Given the description of an element on the screen output the (x, y) to click on. 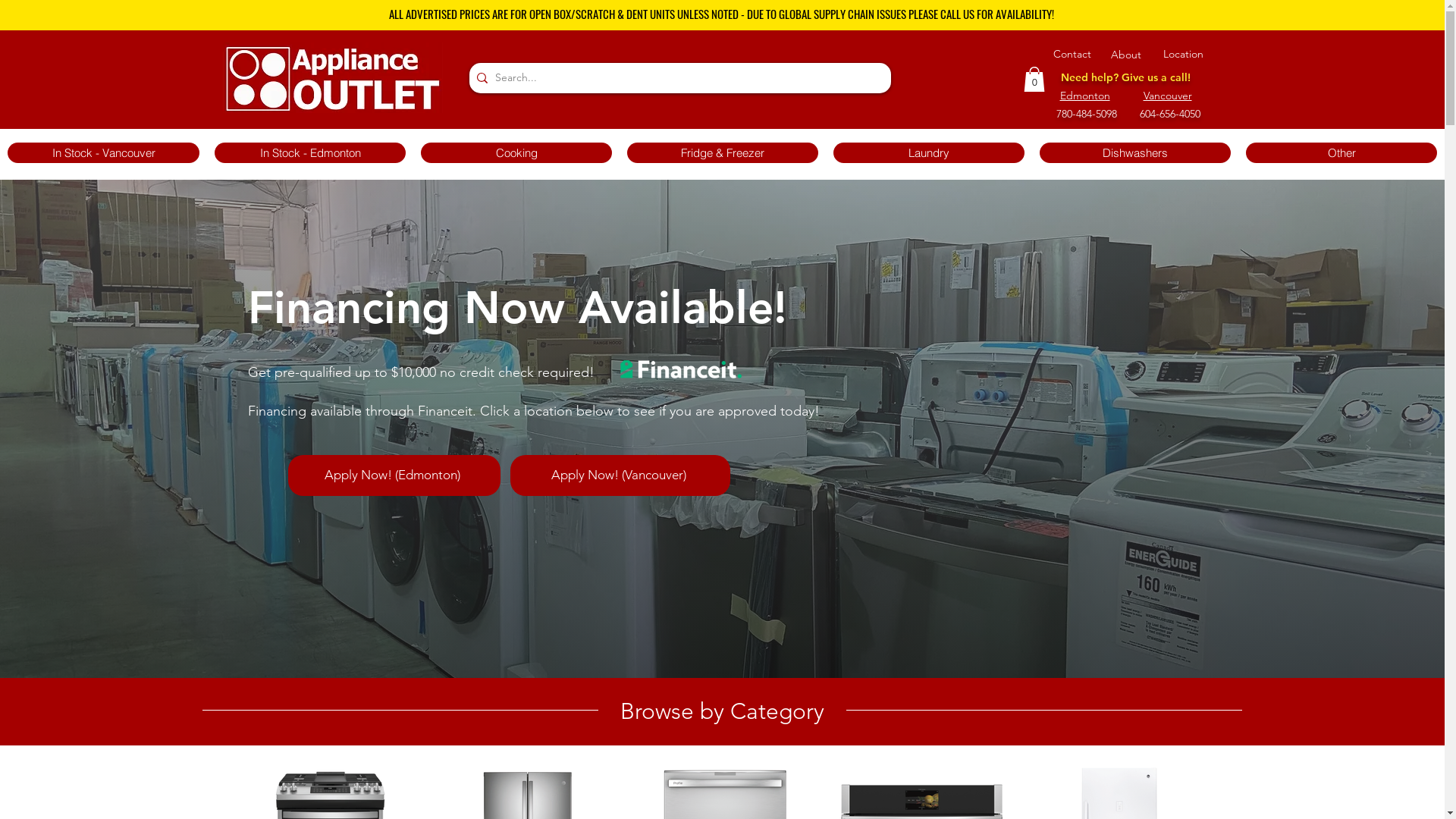
Cooking Element type: text (515, 152)
About Element type: text (1125, 54)
Location Element type: text (1183, 53)
Dishwashers Element type: text (1134, 152)
Apply Now! (Vancouver) Element type: text (619, 475)
Laundry Element type: text (928, 152)
Contact Element type: text (1071, 53)
In Stock - Edmonton Element type: text (309, 152)
Other Element type: text (1341, 152)
Edmonton Element type: text (1085, 95)
Vancouver Element type: text (1167, 95)
Fridge & Freezer Element type: text (722, 152)
In Stock - Vancouver Element type: text (103, 152)
Apply Now! (Edmonton) Element type: text (394, 475)
0 Element type: text (1033, 78)
